Given the description of an element on the screen output the (x, y) to click on. 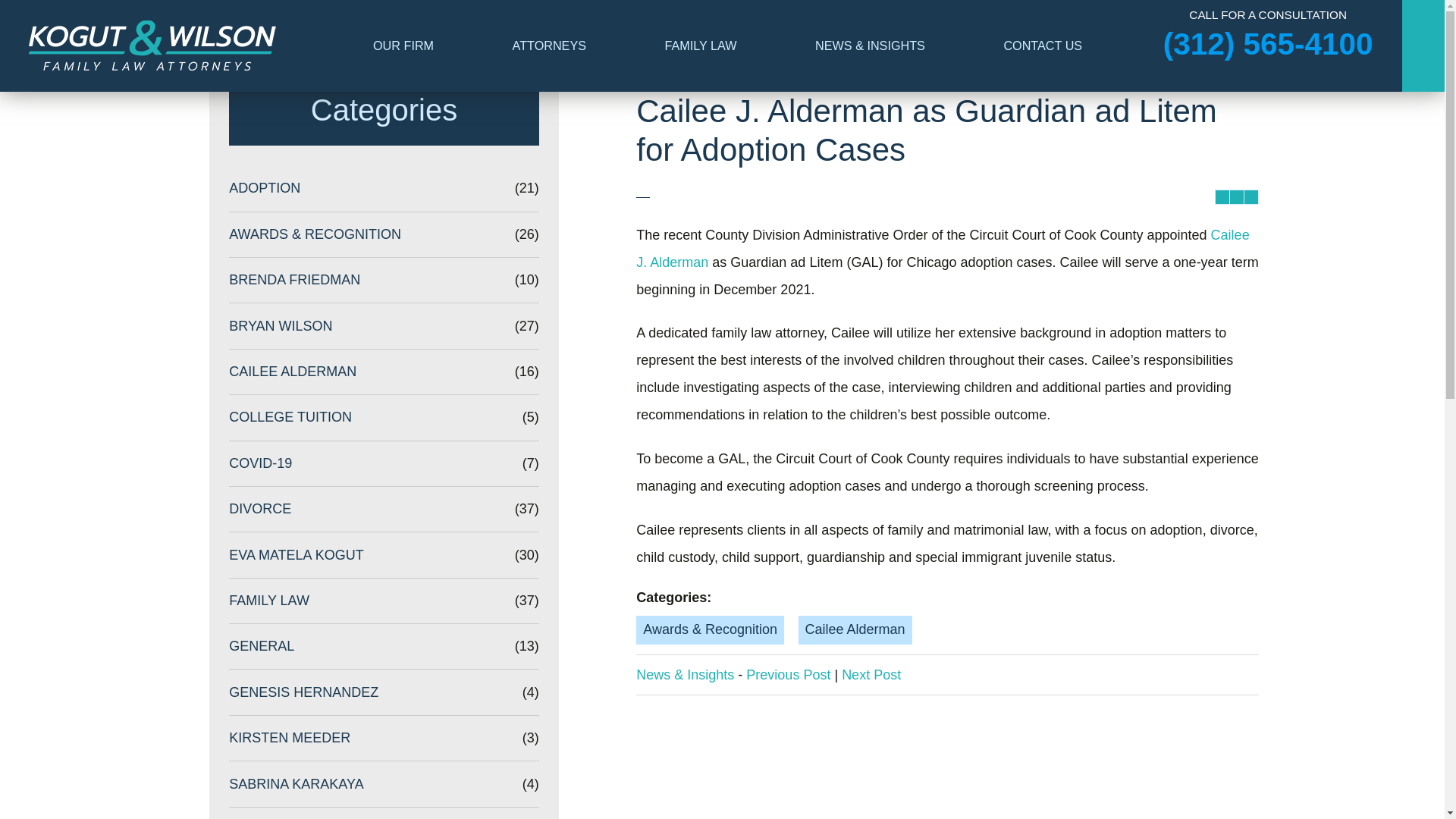
OUR FIRM (403, 45)
ATTORNEYS (549, 45)
FAMILY LAW (701, 45)
